Given the description of an element on the screen output the (x, y) to click on. 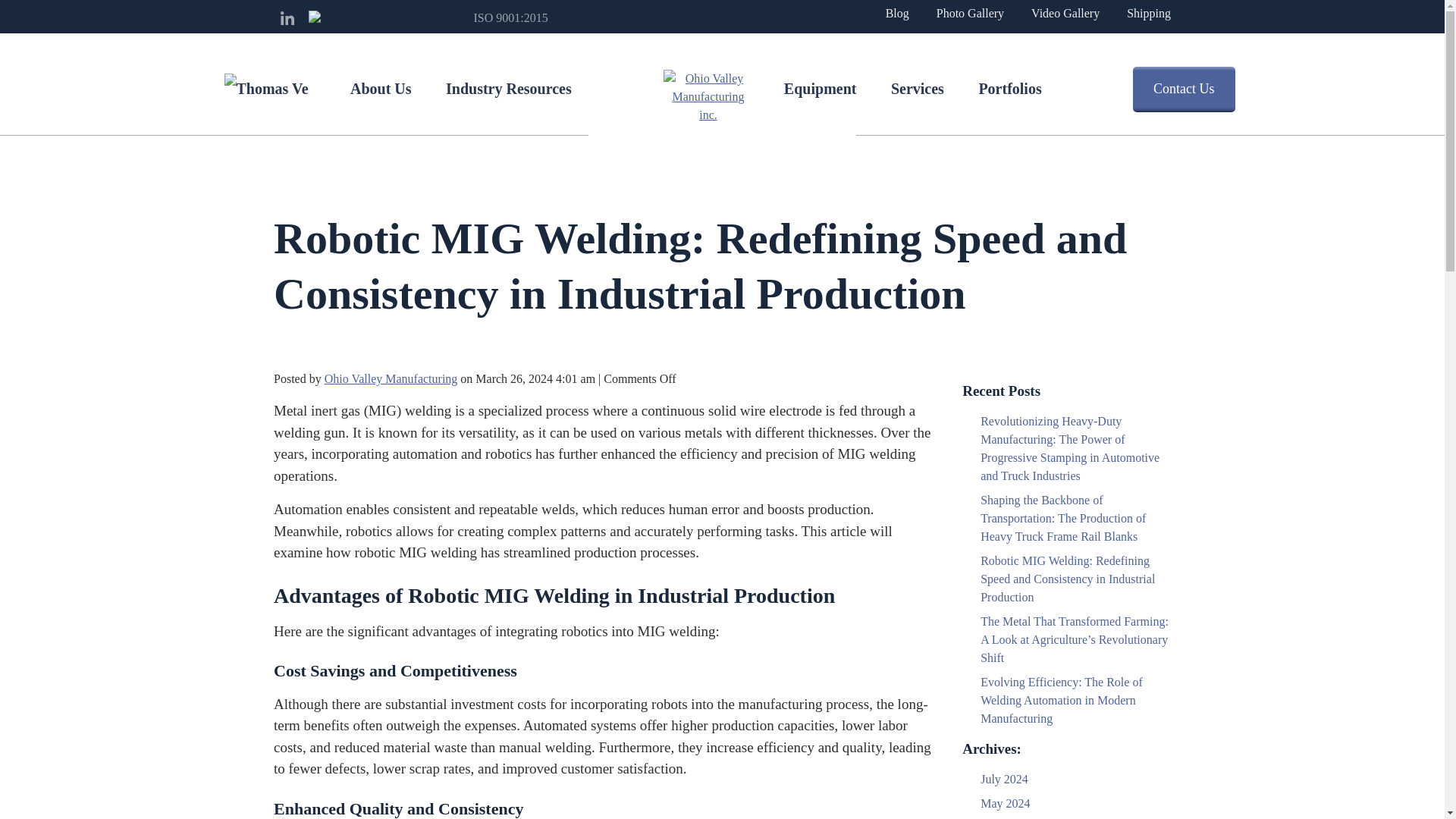
Thomas Verified Supplier Badge (265, 88)
Shipping (1148, 13)
Video Gallery (1064, 13)
Equipment (820, 88)
About Us (380, 88)
Industry Resources (508, 88)
Ohio Valley Manufacturing inc. (707, 96)
YouTube (314, 17)
Contact Us (1183, 89)
ISO 9001:2015 (493, 17)
LinkedIn (287, 18)
Photo Gallery (970, 13)
Blog (896, 13)
Services (917, 88)
